Given the description of an element on the screen output the (x, y) to click on. 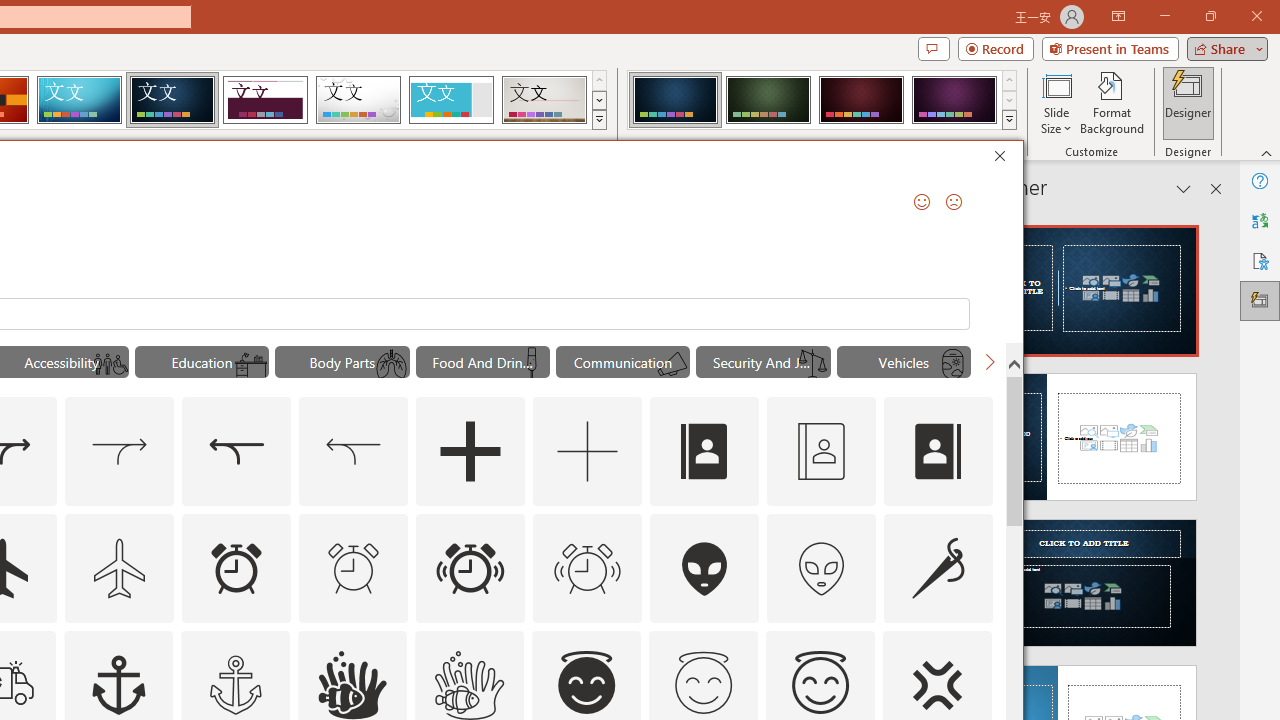
AutomationID: Icons_AlienFace (705, 568)
AutomationID: Icons_Add (470, 452)
Send a Frown (954, 201)
Thumbnail (977, 645)
Frame (450, 100)
AutomationID: Icons_AlarmRinging_M (587, 568)
AutomationID: Icons_Airplane_M (120, 568)
AutomationID: Icons_AlarmClock_M (353, 568)
AutomationID: Icons_Megaphone_M (671, 364)
Damask Variant 3 (861, 100)
